Given the description of an element on the screen output the (x, y) to click on. 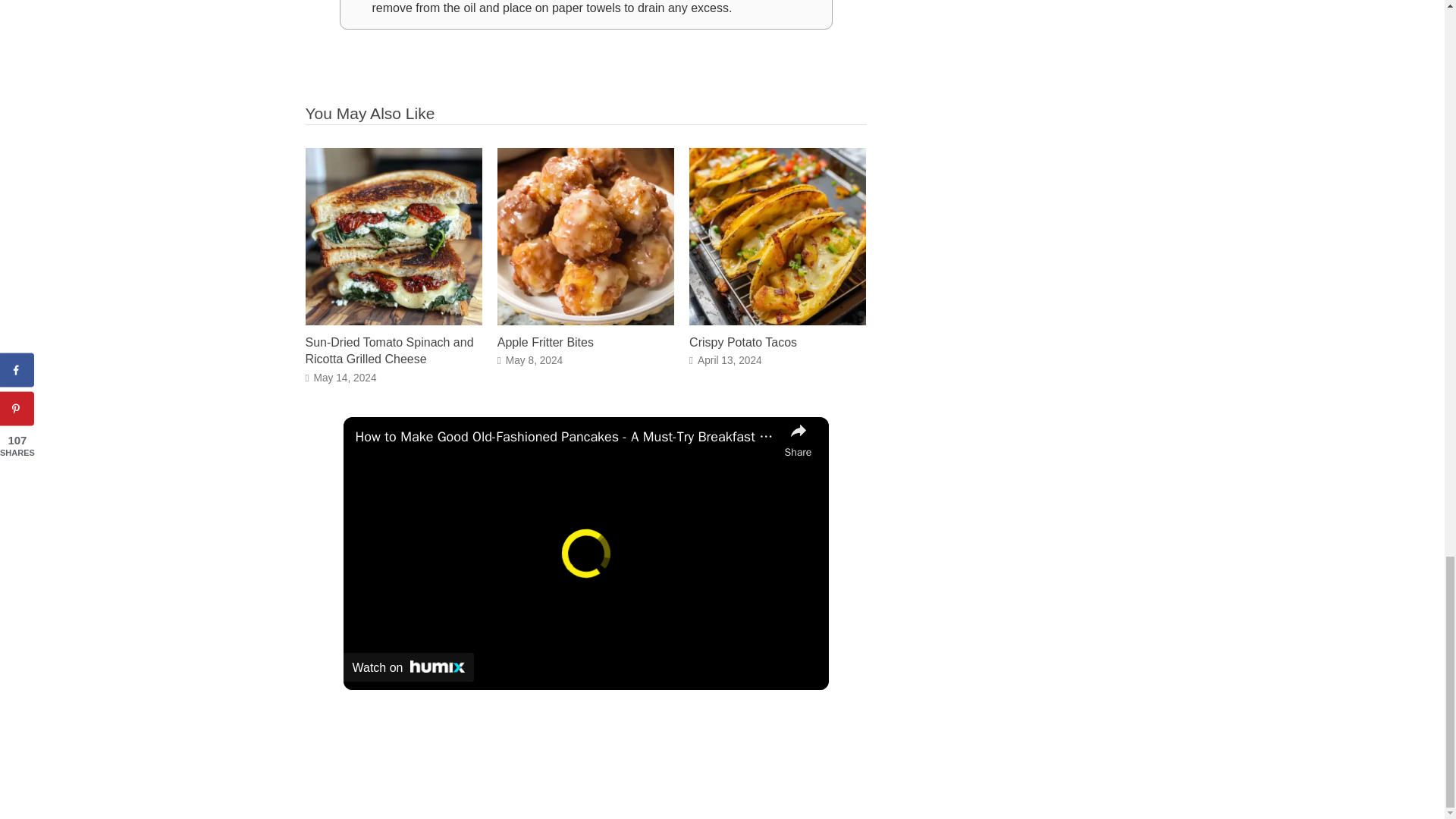
Apple Fritter Bites (585, 319)
Sun-Dried Tomato Spinach and Ricotta Grilled Cheese (388, 350)
Crispy Potato Tacos (742, 341)
Sun-Dried Tomato Spinach and Ricotta Grilled Cheese (392, 319)
Apple Fritter Bites (545, 341)
Crispy Potato Tacos (777, 319)
